Given the description of an element on the screen output the (x, y) to click on. 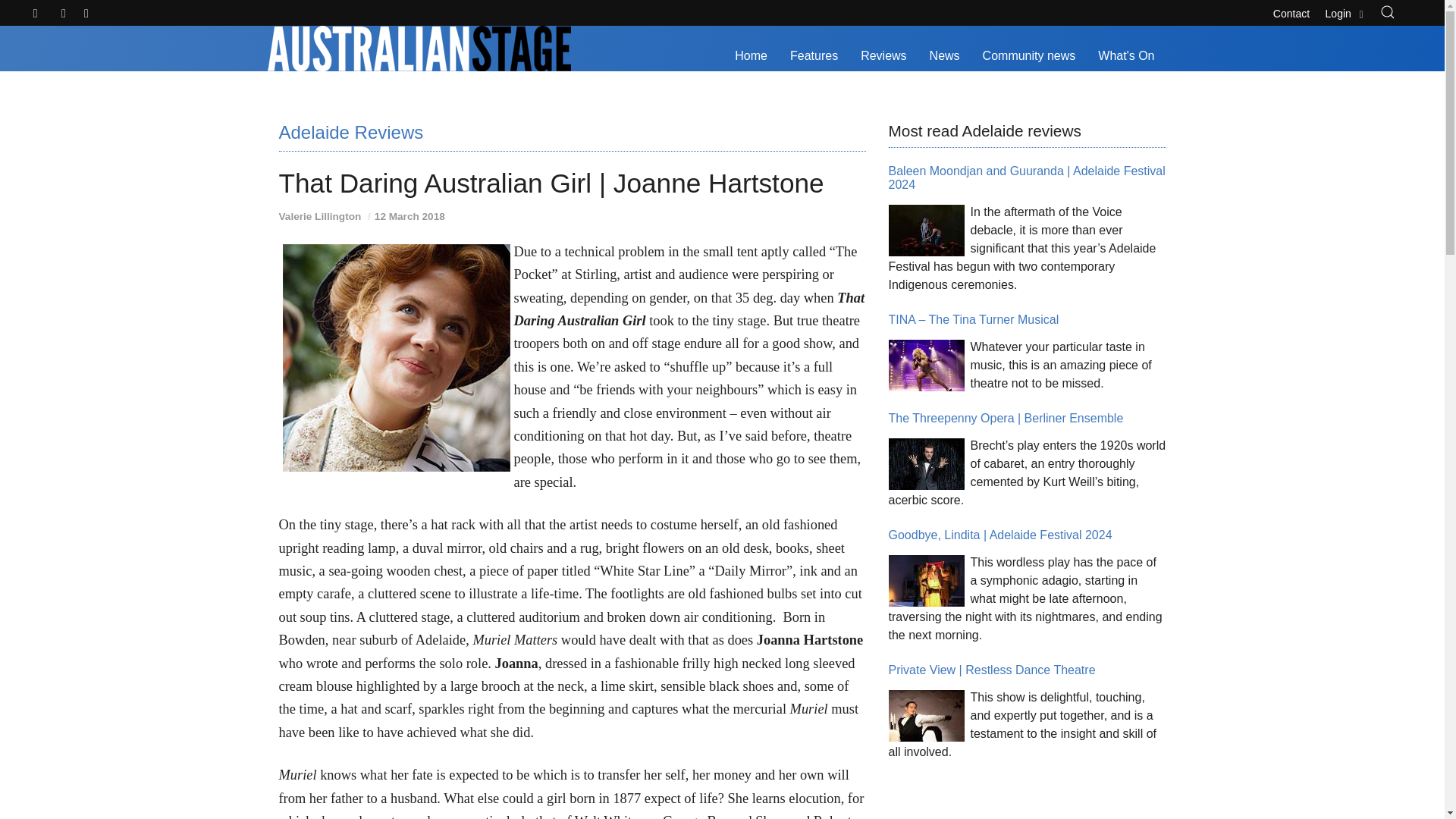
Contact (1290, 11)
Reviews (882, 55)
Facebook (64, 13)
News (944, 55)
What's On (1125, 55)
Twitter (36, 13)
Login (1345, 11)
Community news (1028, 55)
Home (751, 55)
Features (814, 55)
